Given the description of an element on the screen output the (x, y) to click on. 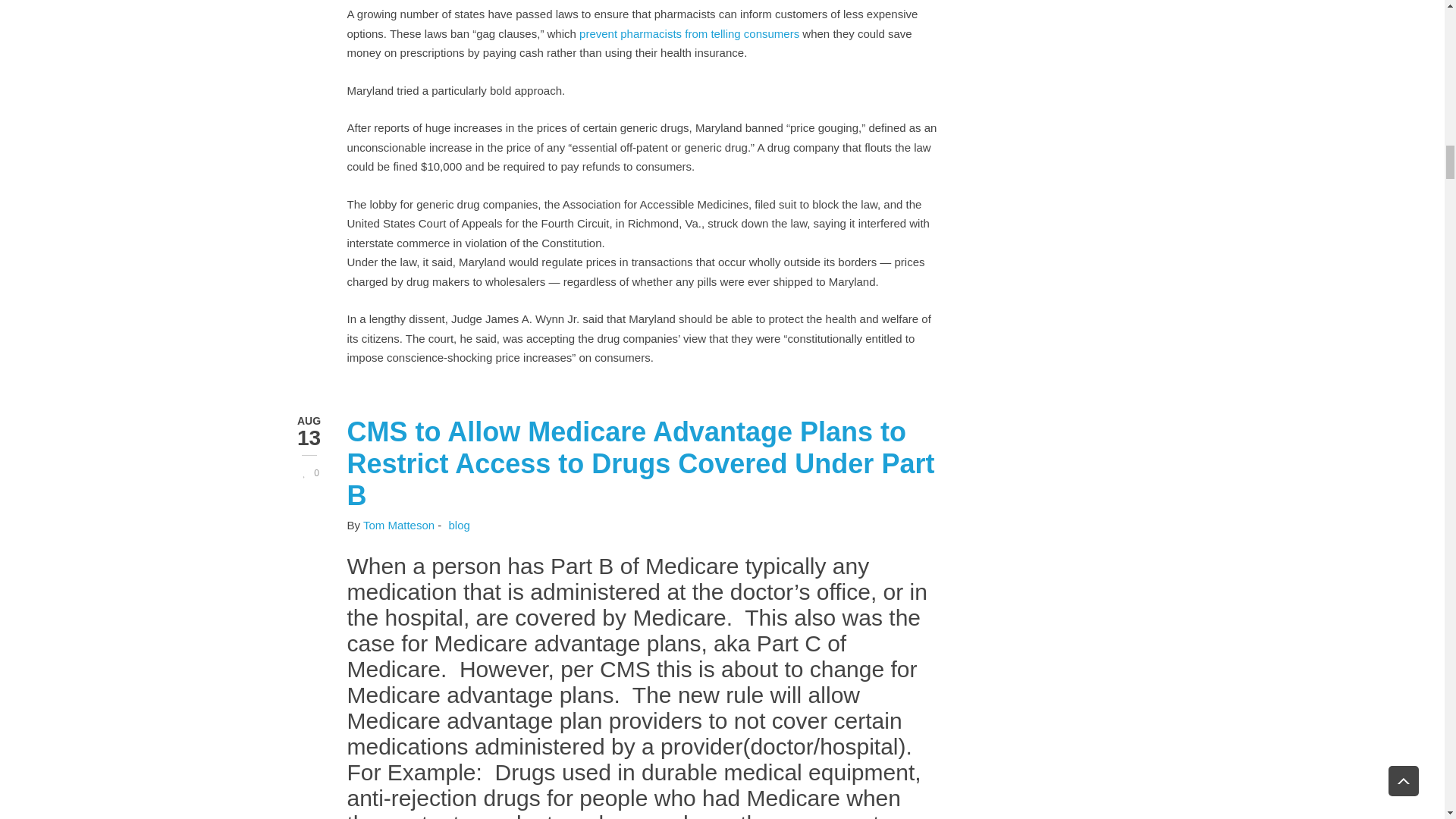
blog (458, 524)
Posts by Tom Matteson (397, 524)
prevent pharmacists from telling consumers (689, 33)
0 (308, 471)
Tom Matteson (397, 524)
Like this (308, 471)
